Given the description of an element on the screen output the (x, y) to click on. 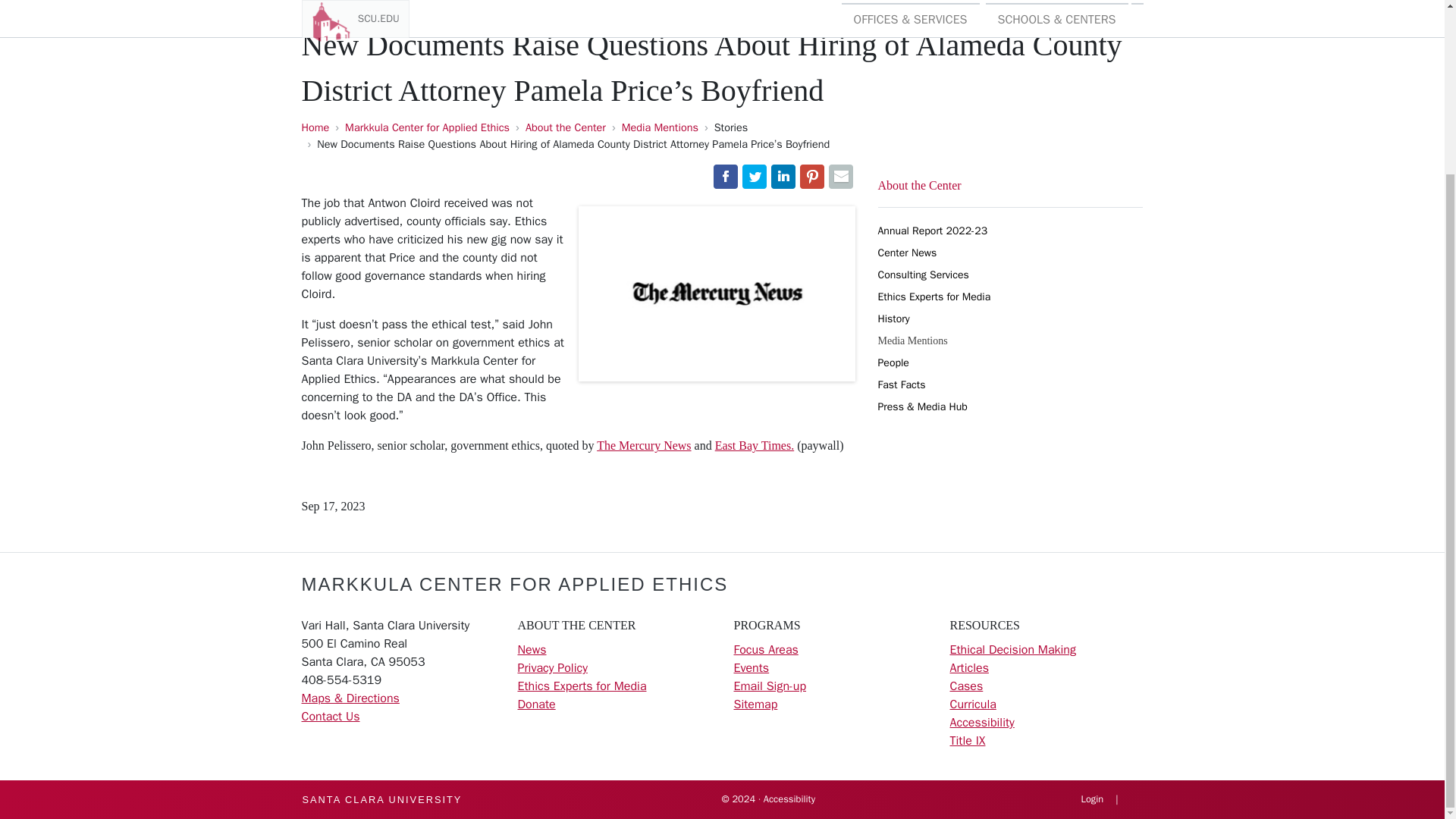
The Office of Equal Opportunity and Title IX (967, 740)
Accessibility (981, 722)
